Given the description of an element on the screen output the (x, y) to click on. 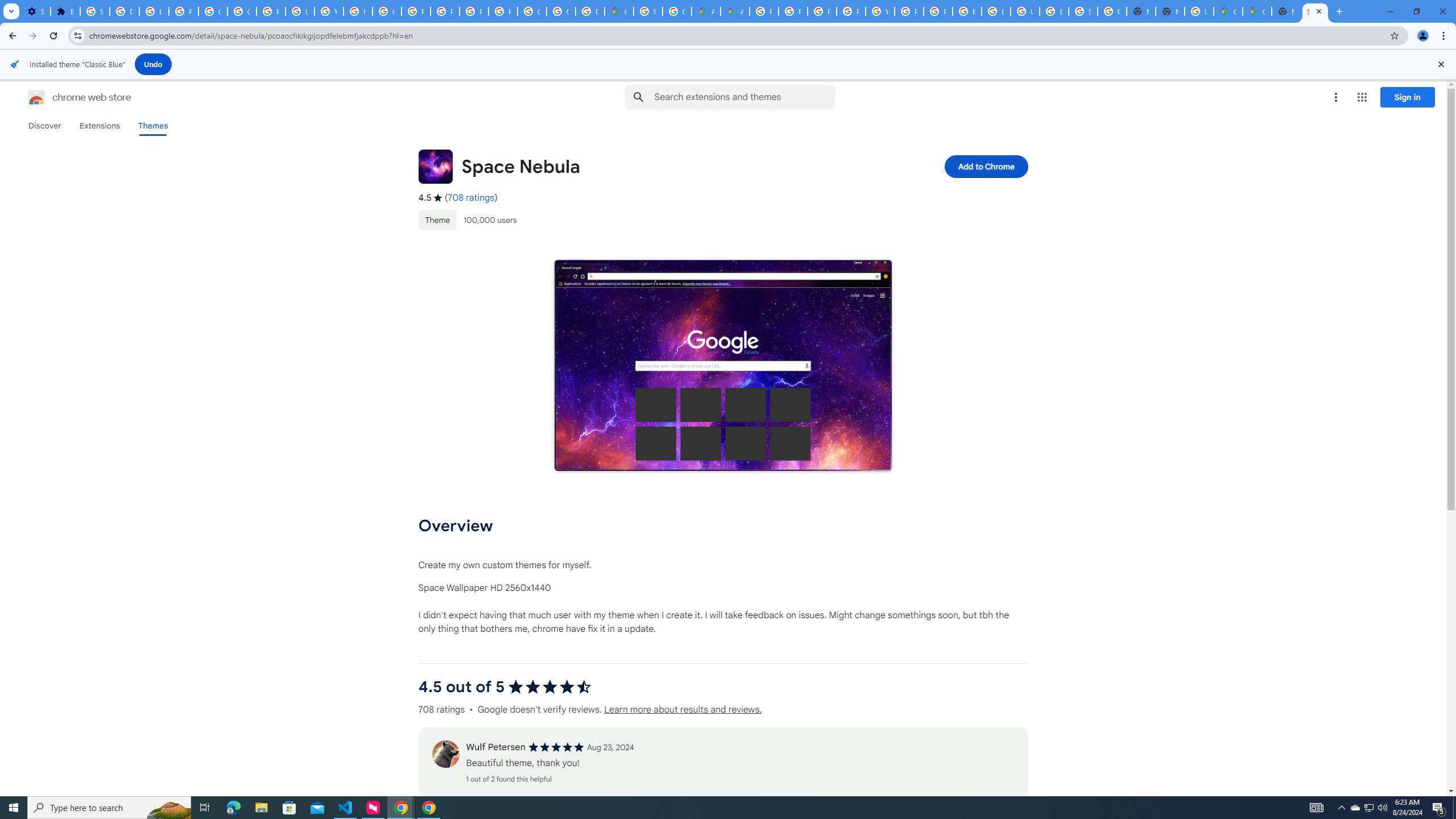
Extensions (65, 11)
Browse Chrome as a guest - Computer - Google Chrome Help (967, 11)
Item media 1 screenshot (722, 364)
Extensions (99, 125)
Google Maps (1256, 11)
Google apps (1362, 96)
Item logo image for Space Nebula Space Nebula (645, 166)
System (6, 6)
Policy Accountability and Transparency - Transparency Center (763, 11)
New Tab (1286, 11)
